Given the description of an element on the screen output the (x, y) to click on. 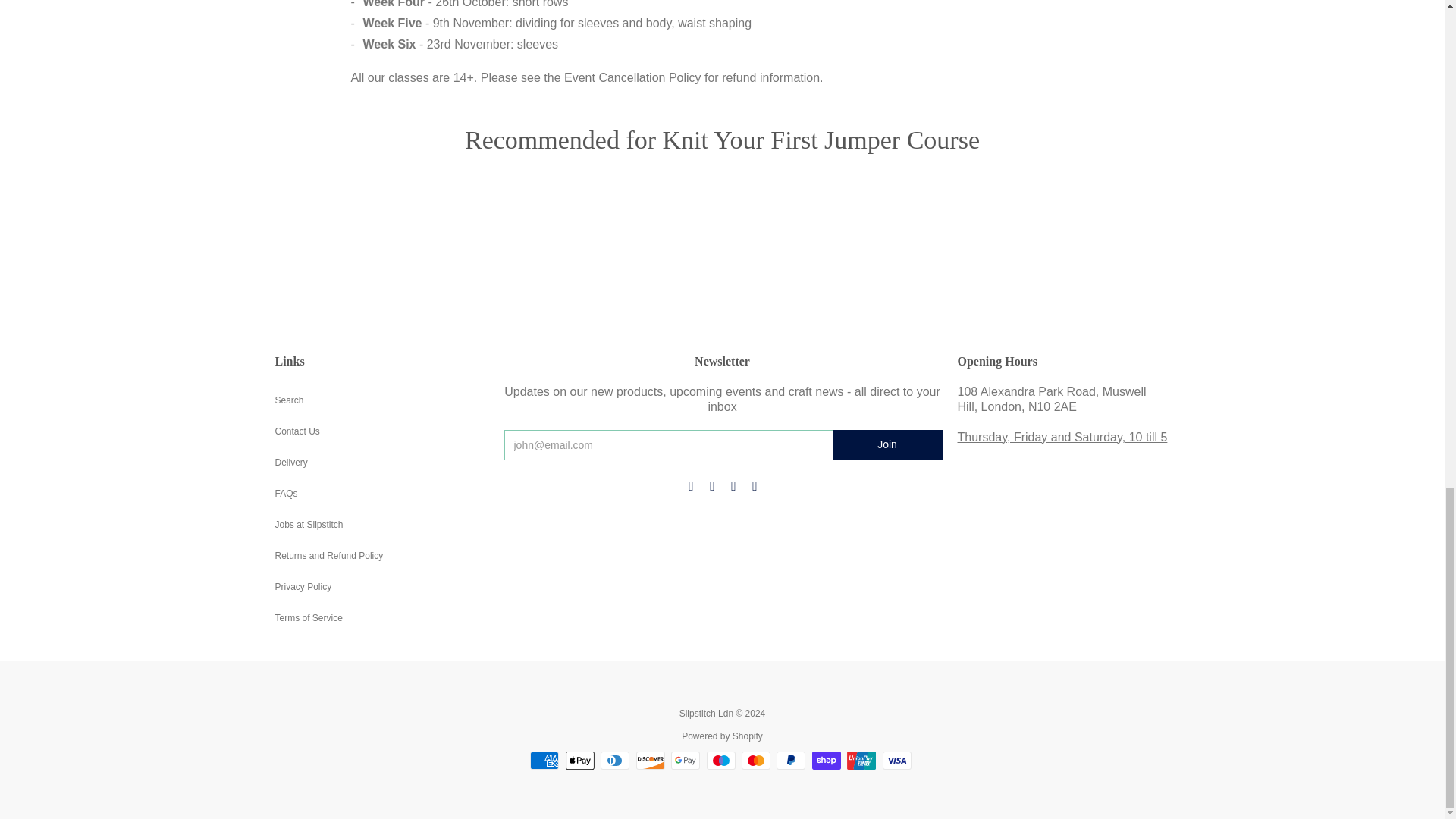
Mastercard (755, 760)
Join (887, 444)
Shop Pay (826, 760)
Maestro (720, 760)
Visa (896, 760)
American Express (544, 760)
Diners Club (613, 760)
Apple Pay (580, 760)
PayPal (790, 760)
Discover (650, 760)
Event Cancellation Policy (632, 77)
Google Pay (685, 760)
Union Pay (861, 760)
